Given the description of an element on the screen output the (x, y) to click on. 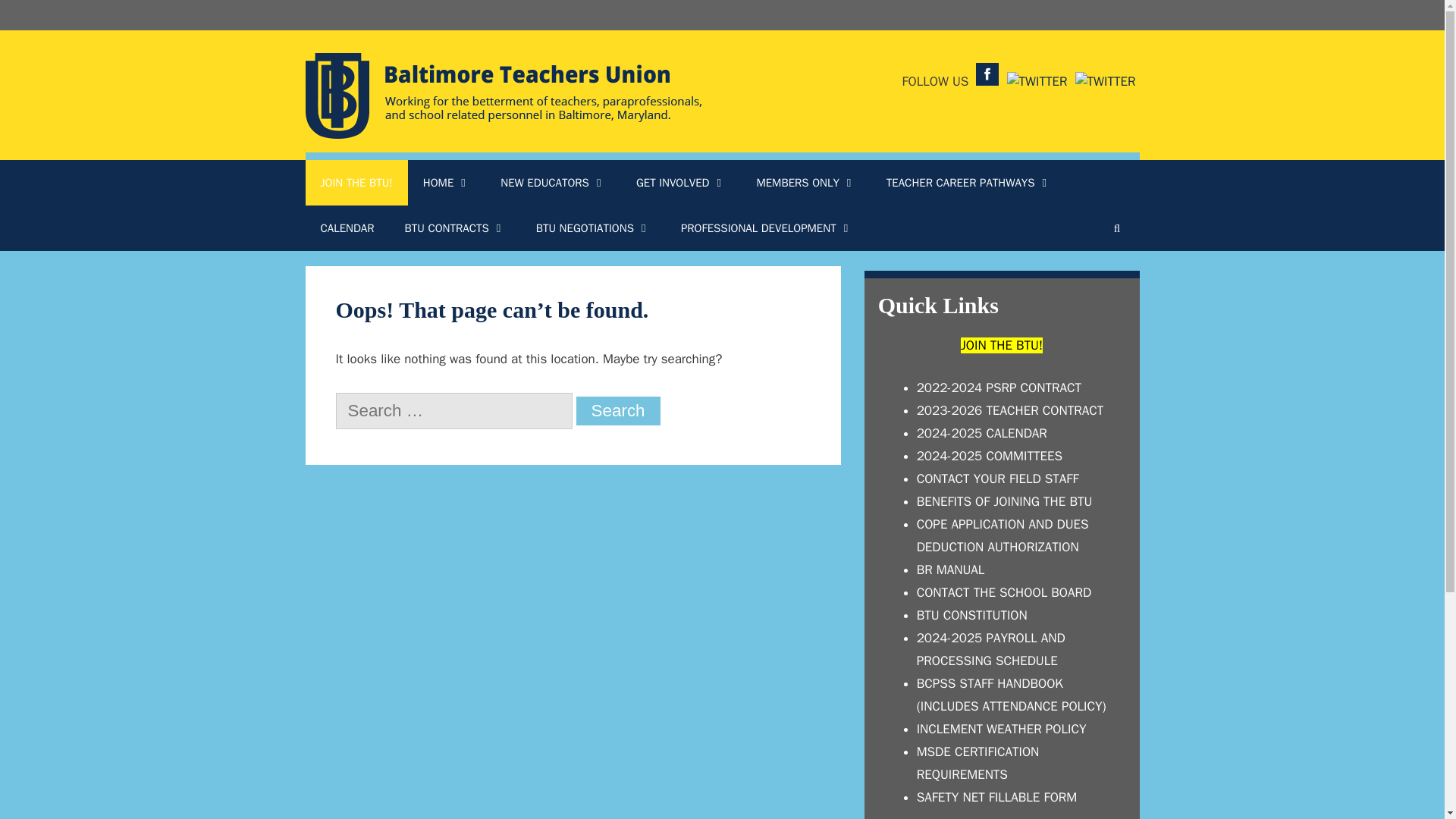
Search (618, 410)
NEW EDUCATORS (552, 182)
HOME (445, 182)
JOIN THE BTU! (355, 182)
Search (618, 410)
Search for: (453, 411)
